Given the description of an element on the screen output the (x, y) to click on. 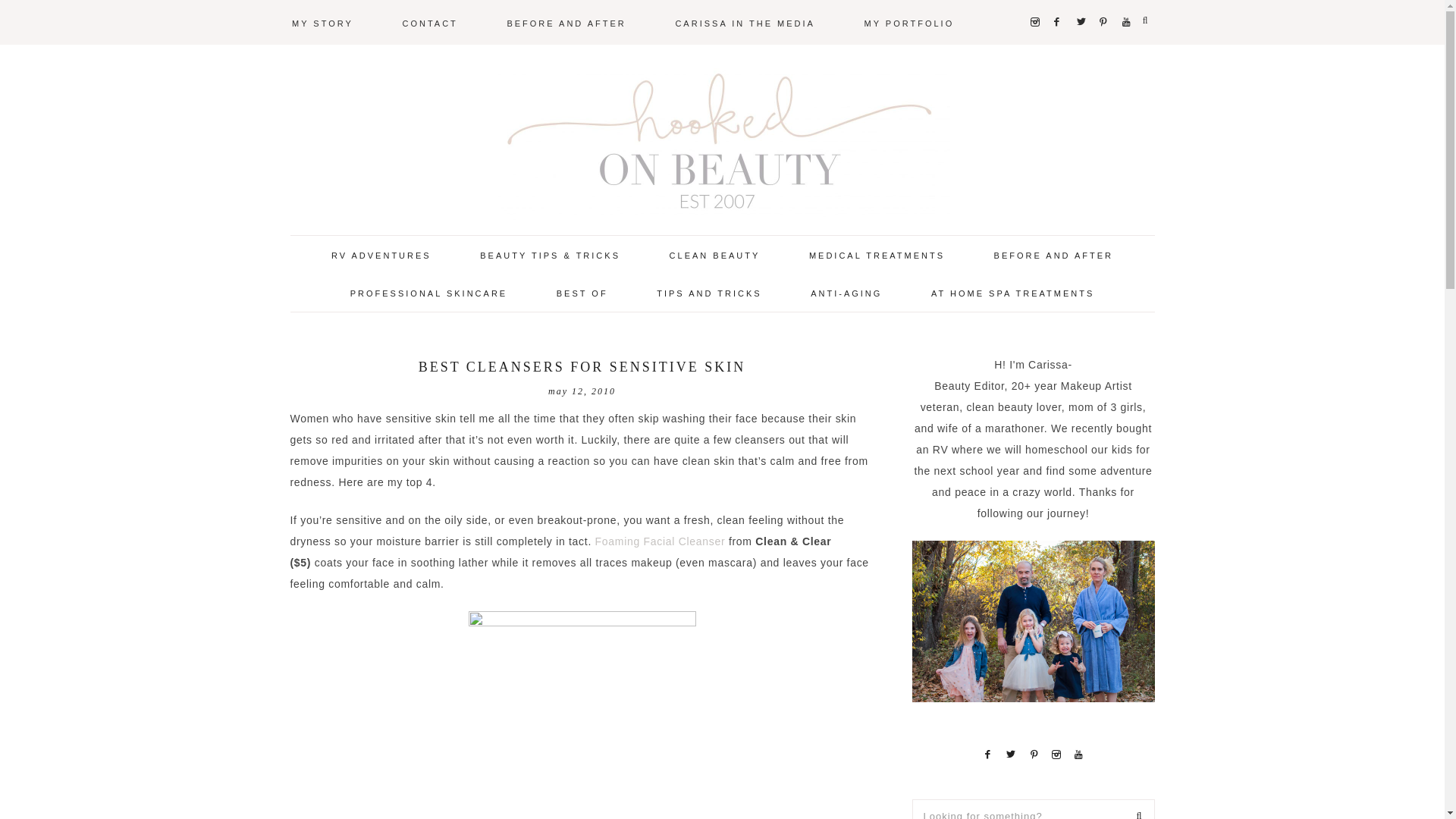
Instagram (1035, 1)
AT HOME SPA TREATMENTS (1012, 292)
MEDICAL TREATMENTS (877, 253)
BEST OF (582, 292)
Pinterest (1034, 753)
Facebook (987, 753)
PROFESSIONAL SKINCARE (428, 292)
CARISSA IN THE MEDIA (745, 22)
Pinterest (1103, 1)
ANTI-AGING (845, 292)
